Given the description of an element on the screen output the (x, y) to click on. 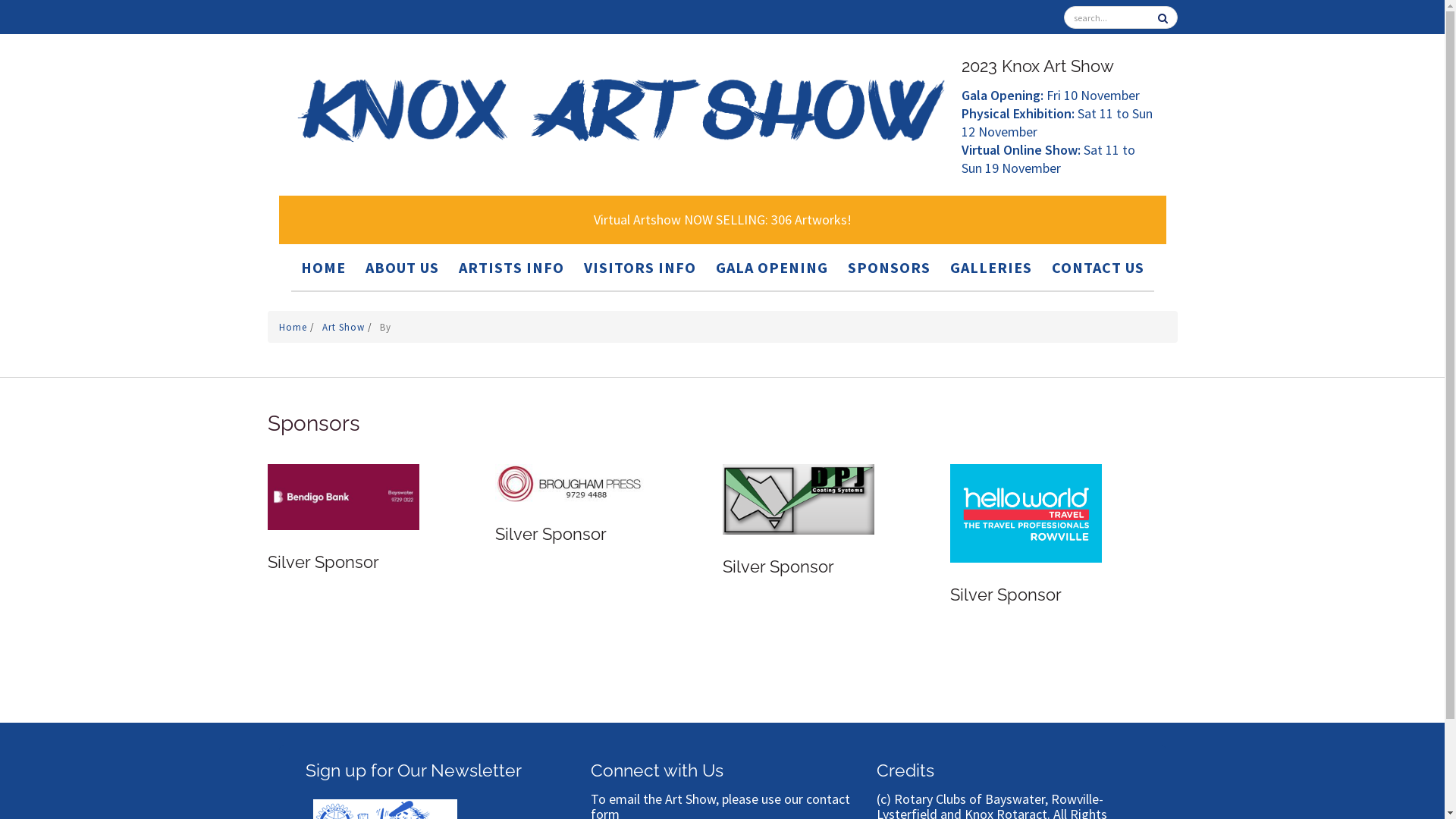
ARTISTS INFO Element type: text (510, 267)
Silver Sponsor Element type: hover (342, 495)
CONTACT US Element type: text (1097, 267)
SPONSORS Element type: text (889, 267)
Silver Sponsor Element type: hover (1025, 512)
Silver Sponsor Element type: hover (797, 497)
Sponsors Element type: text (312, 423)
ABOUT US Element type: text (401, 267)
Art Show Element type: text (344, 326)
Silver Sponsor Element type: hover (570, 481)
GALLERIES Element type: text (989, 267)
VISITORS INFO Element type: text (639, 267)
HOME Element type: text (322, 267)
Virtual Artshow NOW SELLING: 306 Artworks! Element type: text (722, 219)
GALA OPENING Element type: text (771, 267)
Home Element type: text (294, 326)
